Given the description of an element on the screen output the (x, y) to click on. 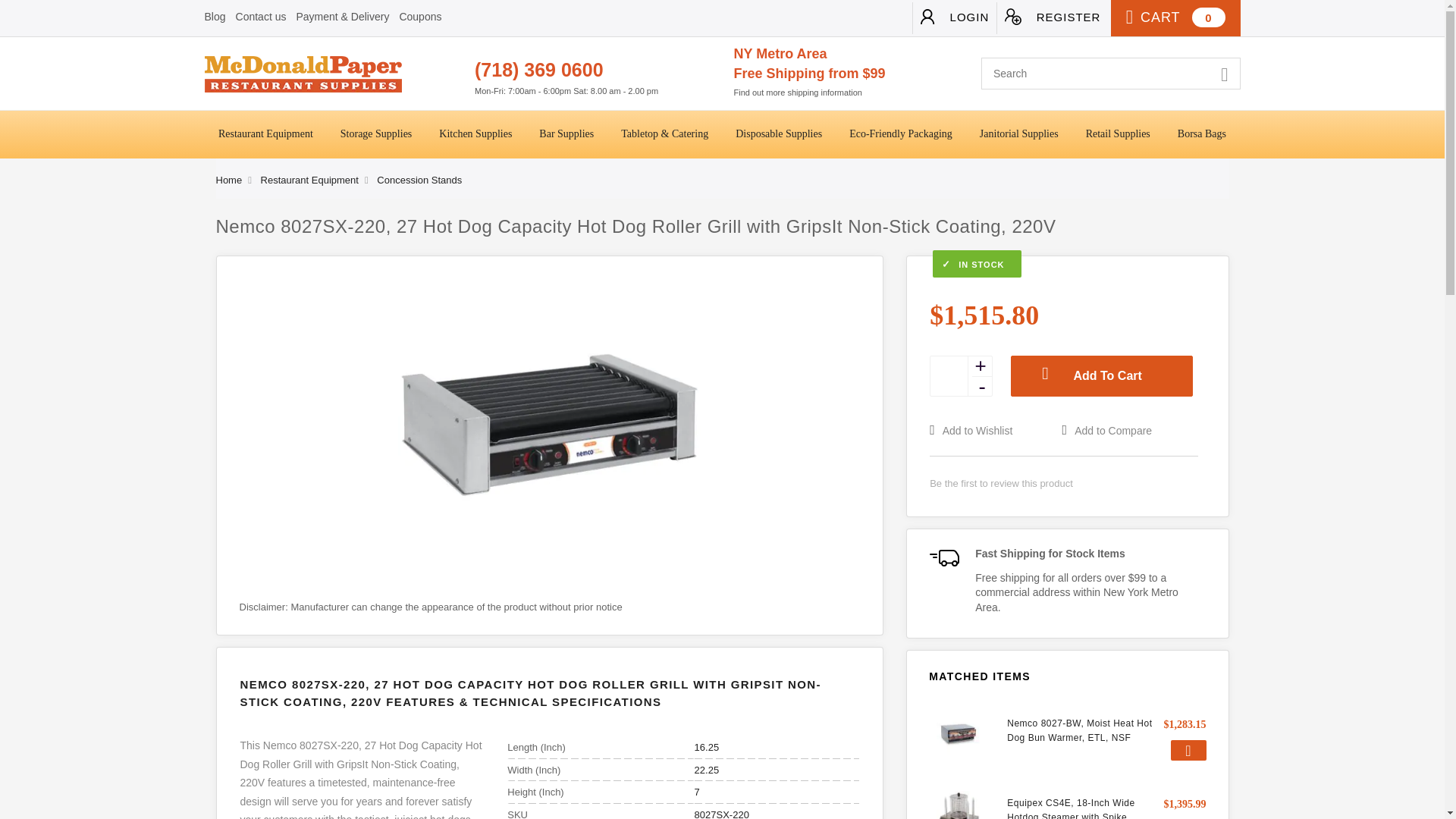
Add To Cart (1101, 375)
Storage Supplies (376, 134)
REGISTER (1051, 18)
Blog (215, 16)
LOGIN (953, 18)
Add to Wish List (994, 430)
Restaurant Equipment (265, 134)
CART (1175, 18)
Add to Cart (1188, 750)
Coupons (419, 16)
